Given the description of an element on the screen output the (x, y) to click on. 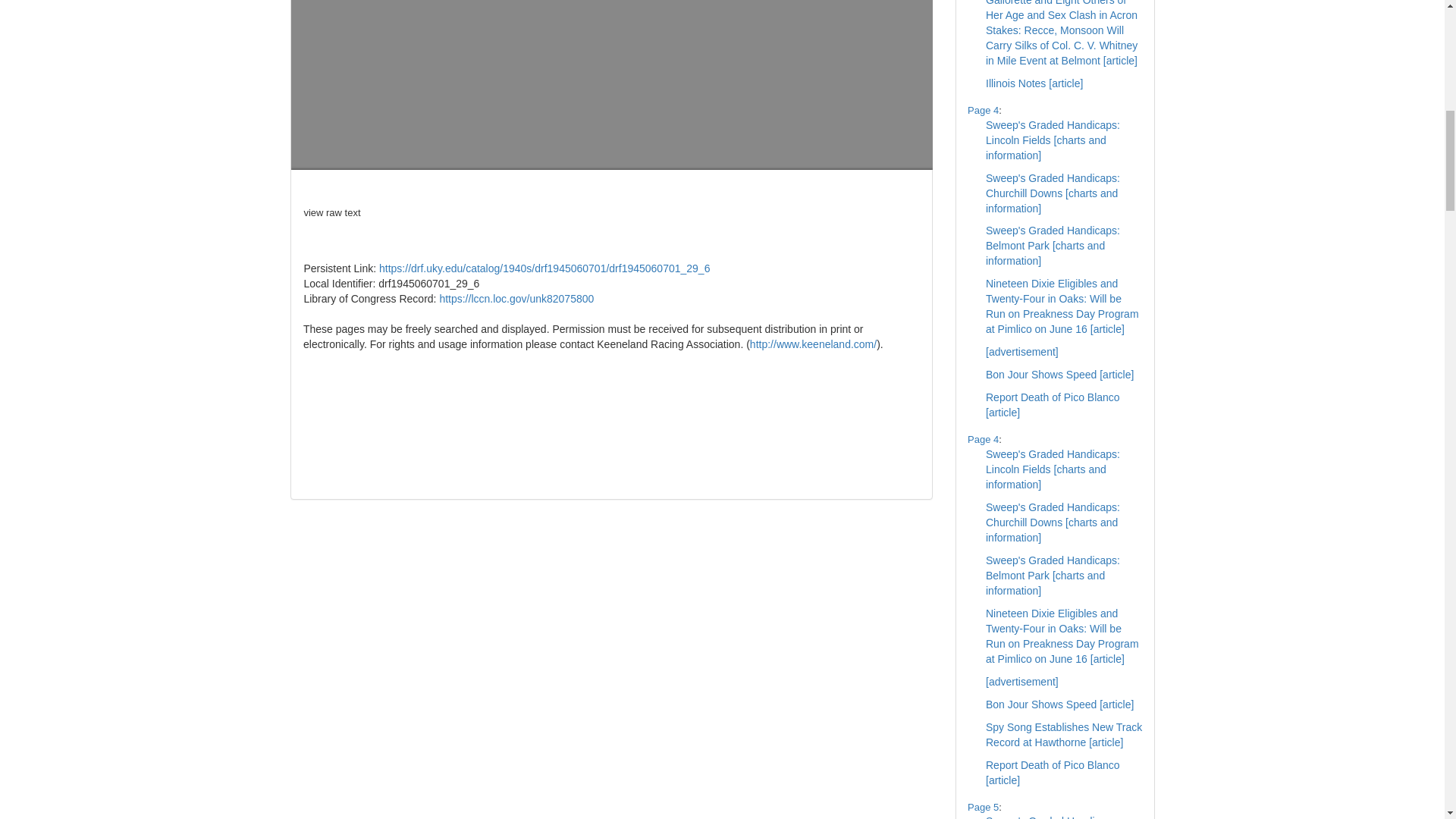
Page 4 (983, 110)
Page 4 (983, 439)
